Given the description of an element on the screen output the (x, y) to click on. 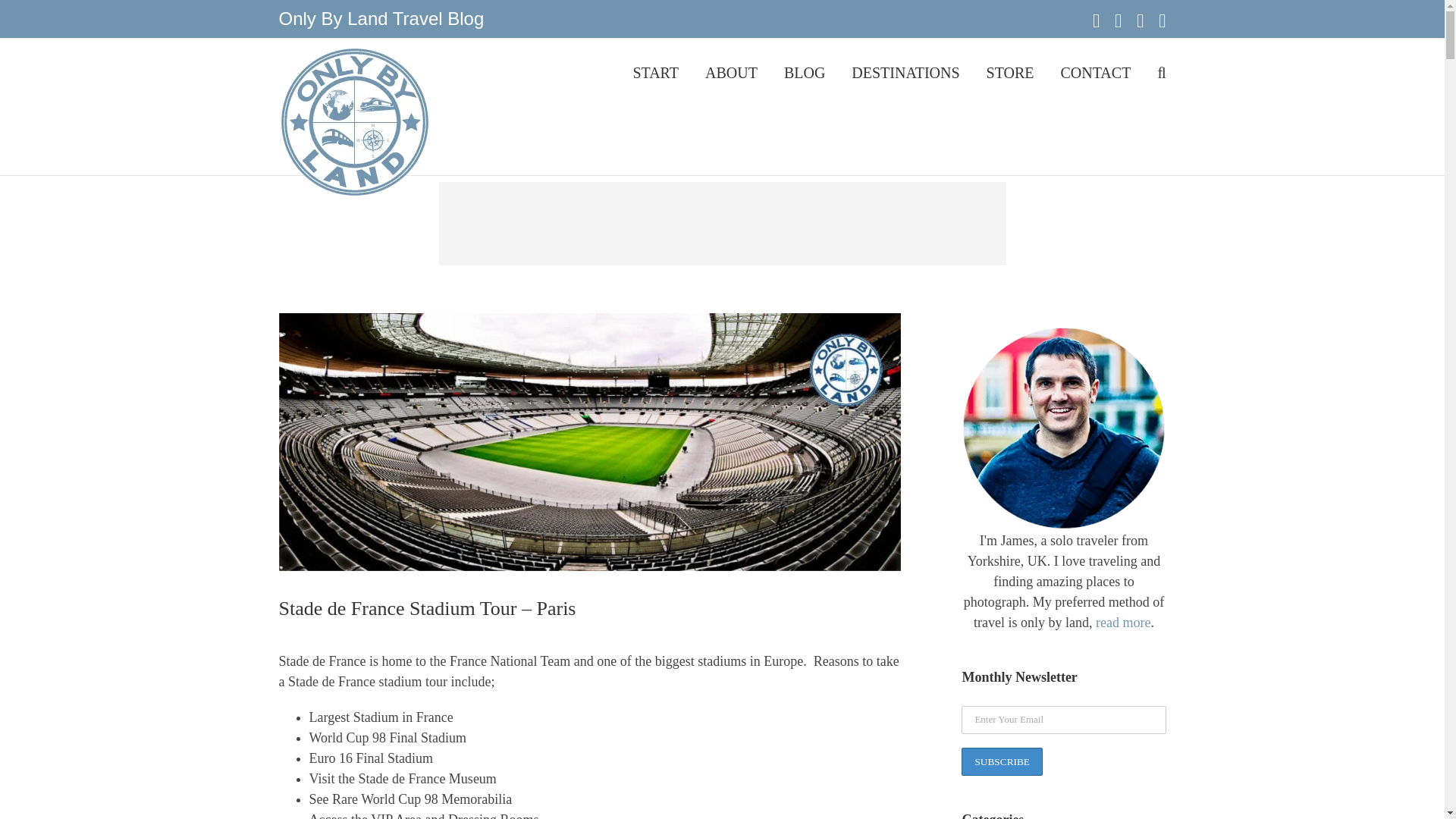
SUBSCRIBE (1001, 761)
DESTINATIONS (905, 71)
CONTACT (1096, 71)
